Given the description of an element on the screen output the (x, y) to click on. 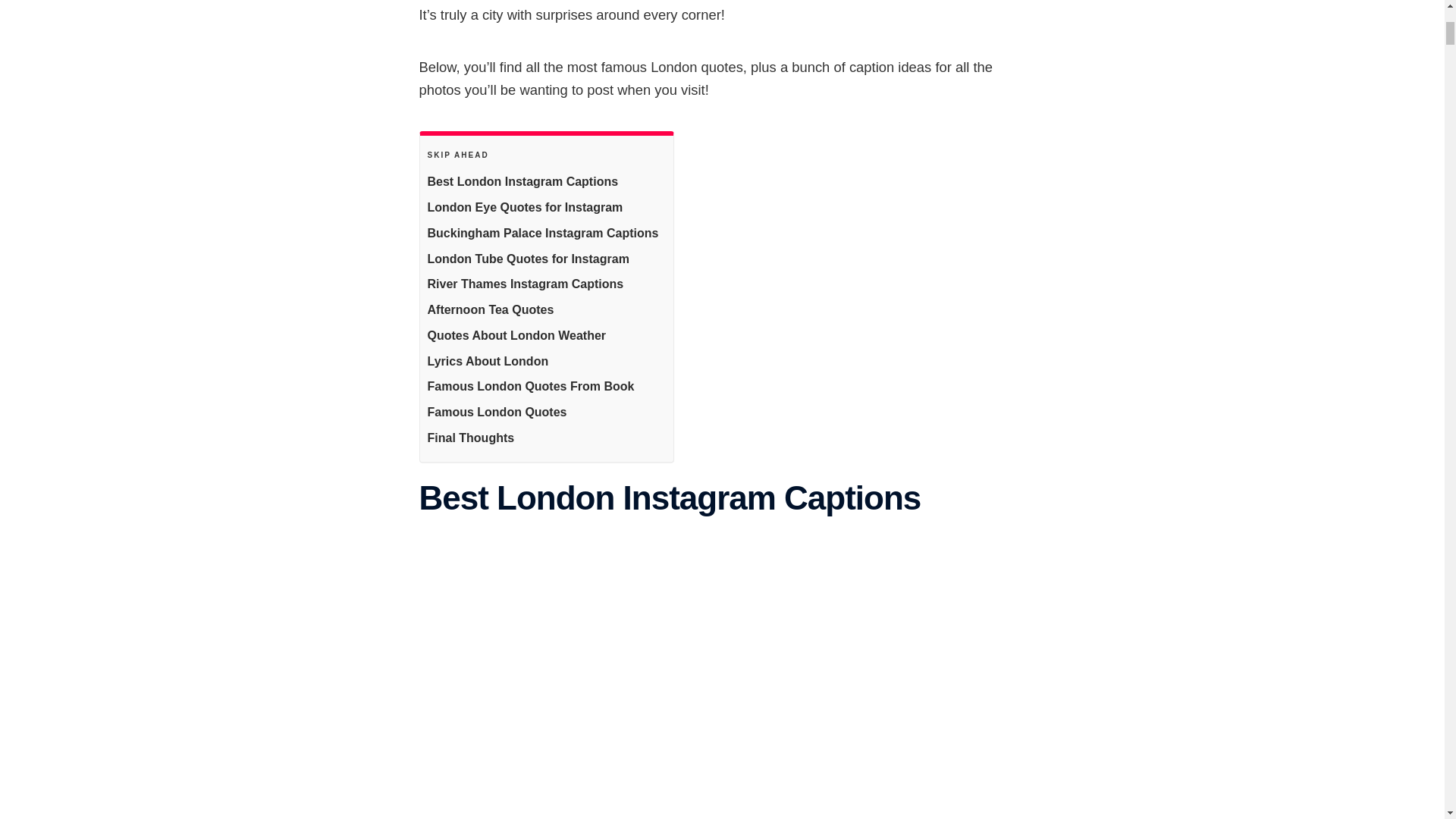
Quotes About London Weather (517, 335)
Best London Instagram Captions (523, 181)
River Thames Instagram Captions (526, 284)
River Thames Instagram Captions (526, 284)
Afternoon Tea Quotes (491, 310)
Famous London Quotes (497, 412)
London Eye Quotes for Instagram (525, 208)
Famous London Quotes (497, 412)
Buckingham Palace Instagram Captions (543, 233)
Quotes About London Weather (517, 335)
